Given the description of an element on the screen output the (x, y) to click on. 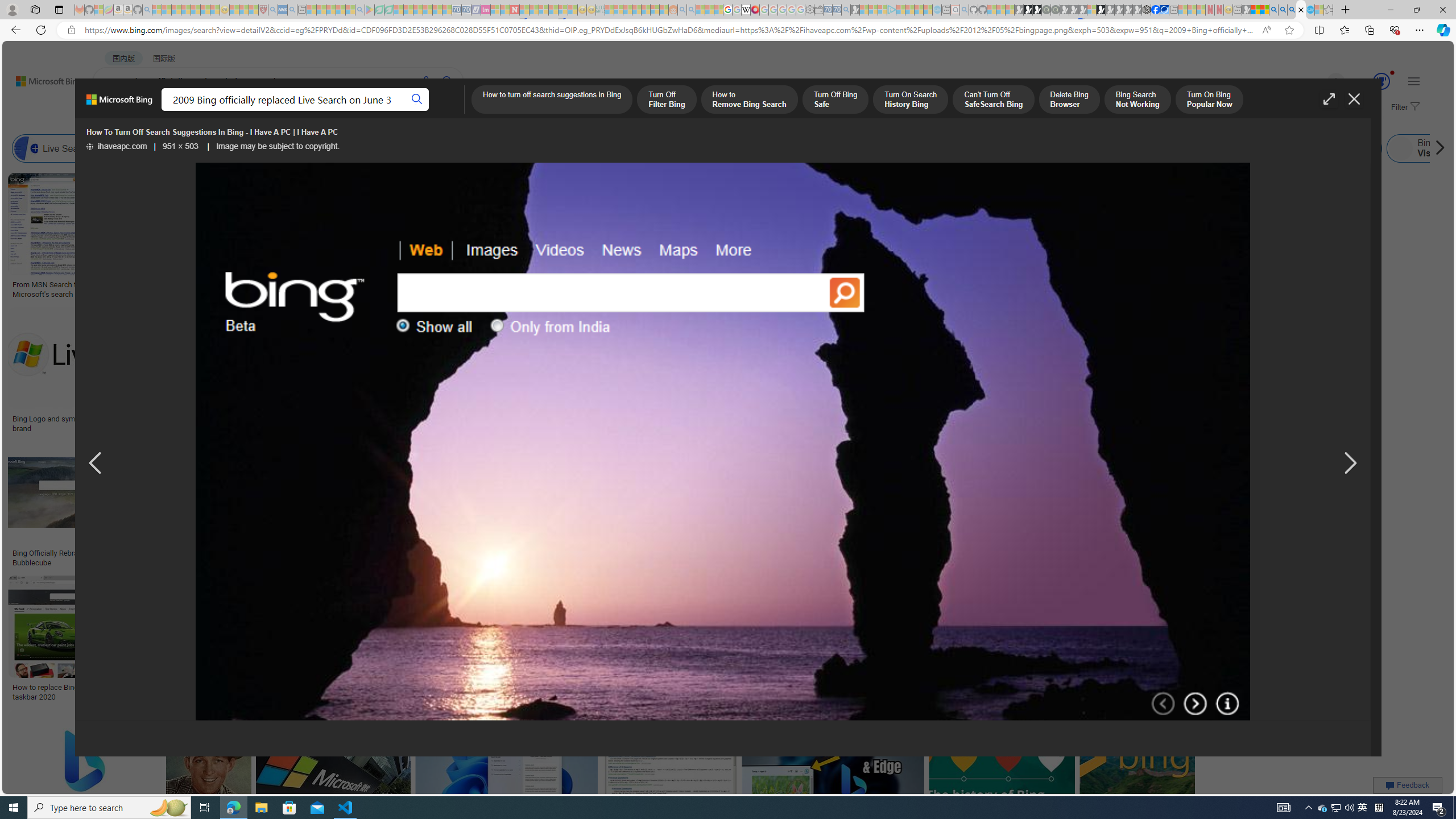
MORE (451, 111)
Bing (2009) (RARE/FAKE) - YouTubeSave (944, 505)
Bing Word Search (403, 148)
Bing Voice Search (121, 148)
Bing Voice Search (156, 148)
